Given the description of an element on the screen output the (x, y) to click on. 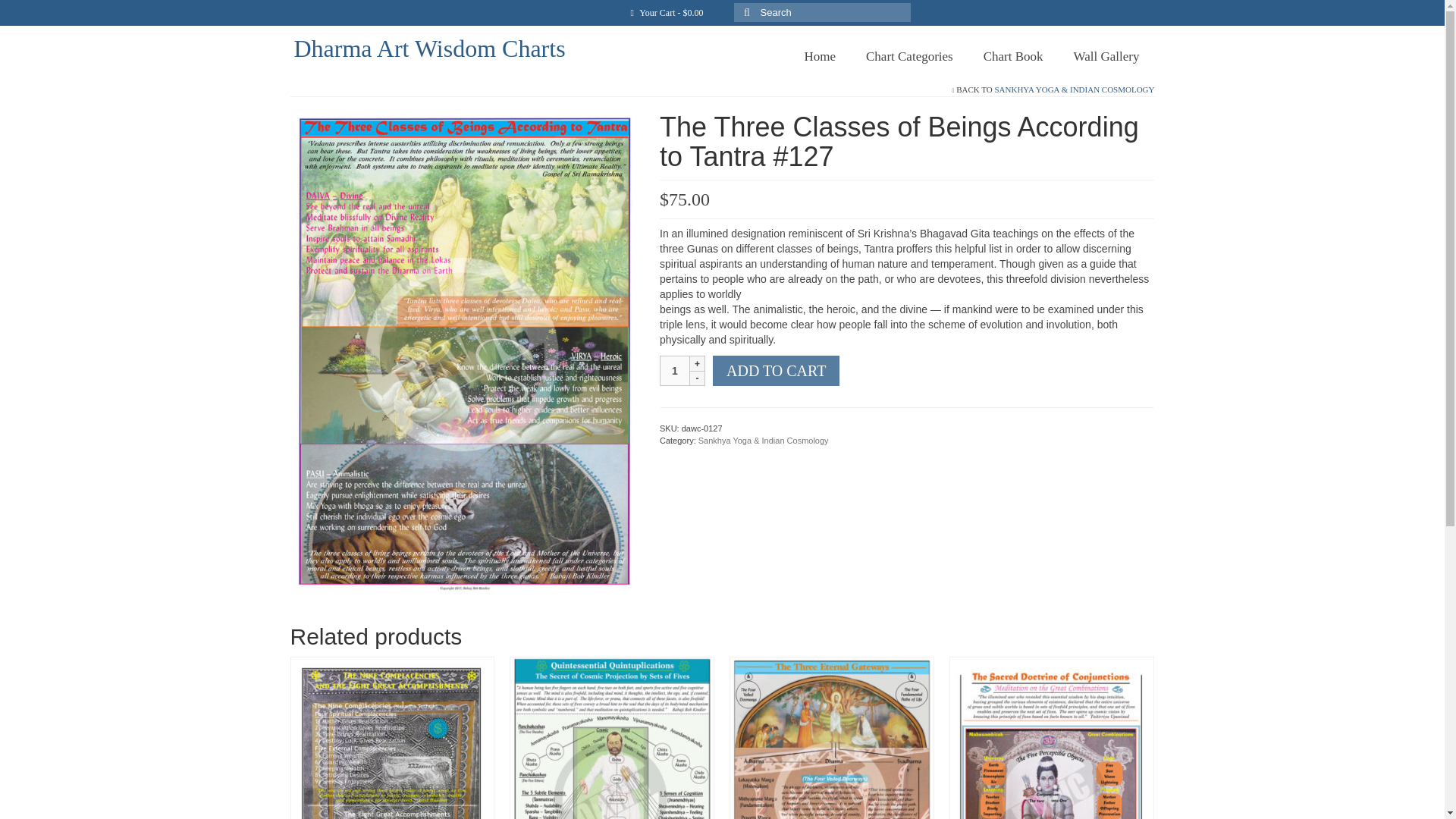
Chart Categories (909, 56)
Home (819, 56)
Chart Book (1013, 56)
Wall Gallery (1106, 56)
- (697, 378)
Dharma Art Wisdom Charts (430, 48)
ADD TO CART (776, 370)
1 (674, 370)
View your shopping cart (666, 12)
